Given the description of an element on the screen output the (x, y) to click on. 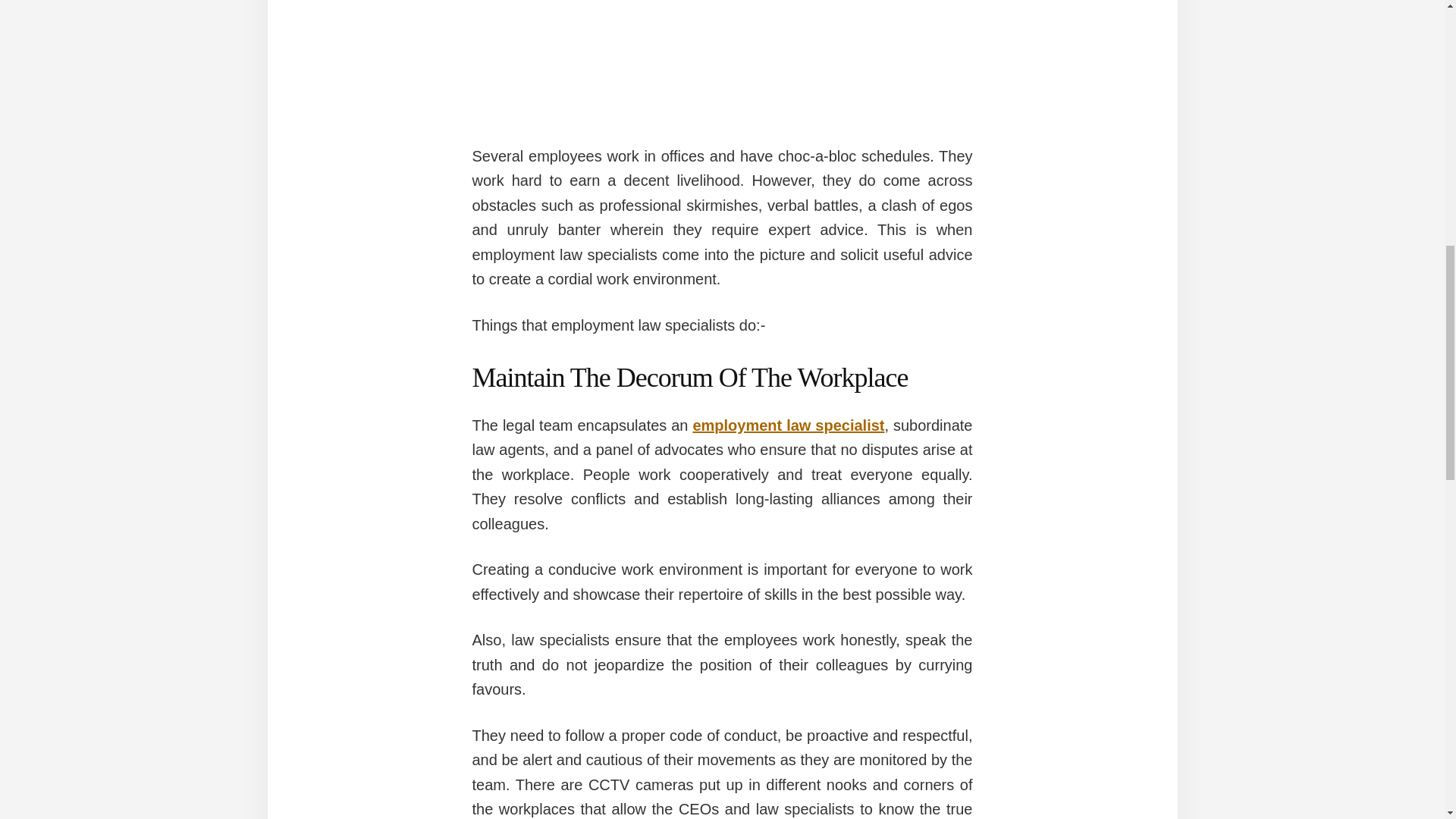
employment law specialist (788, 425)
